Given the description of an element on the screen output the (x, y) to click on. 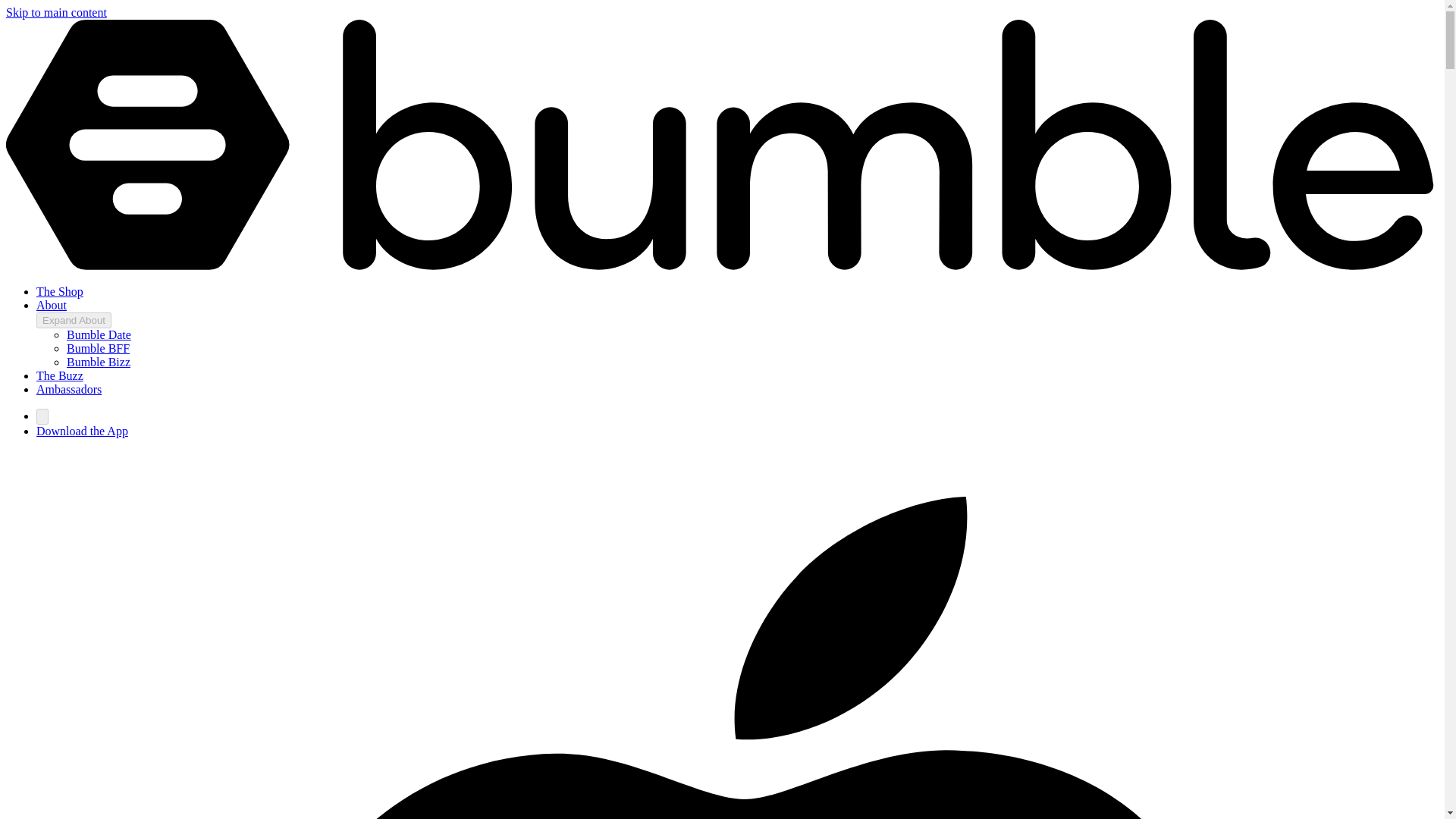
Ambassadors (68, 389)
Skip to main content (55, 11)
The Buzz (59, 375)
Bumble Bizz (98, 361)
About (51, 305)
Bumble Date (98, 334)
The Shop (59, 291)
Expand About (74, 320)
Bumble BFF (97, 348)
Download the App (82, 431)
